Given the description of an element on the screen output the (x, y) to click on. 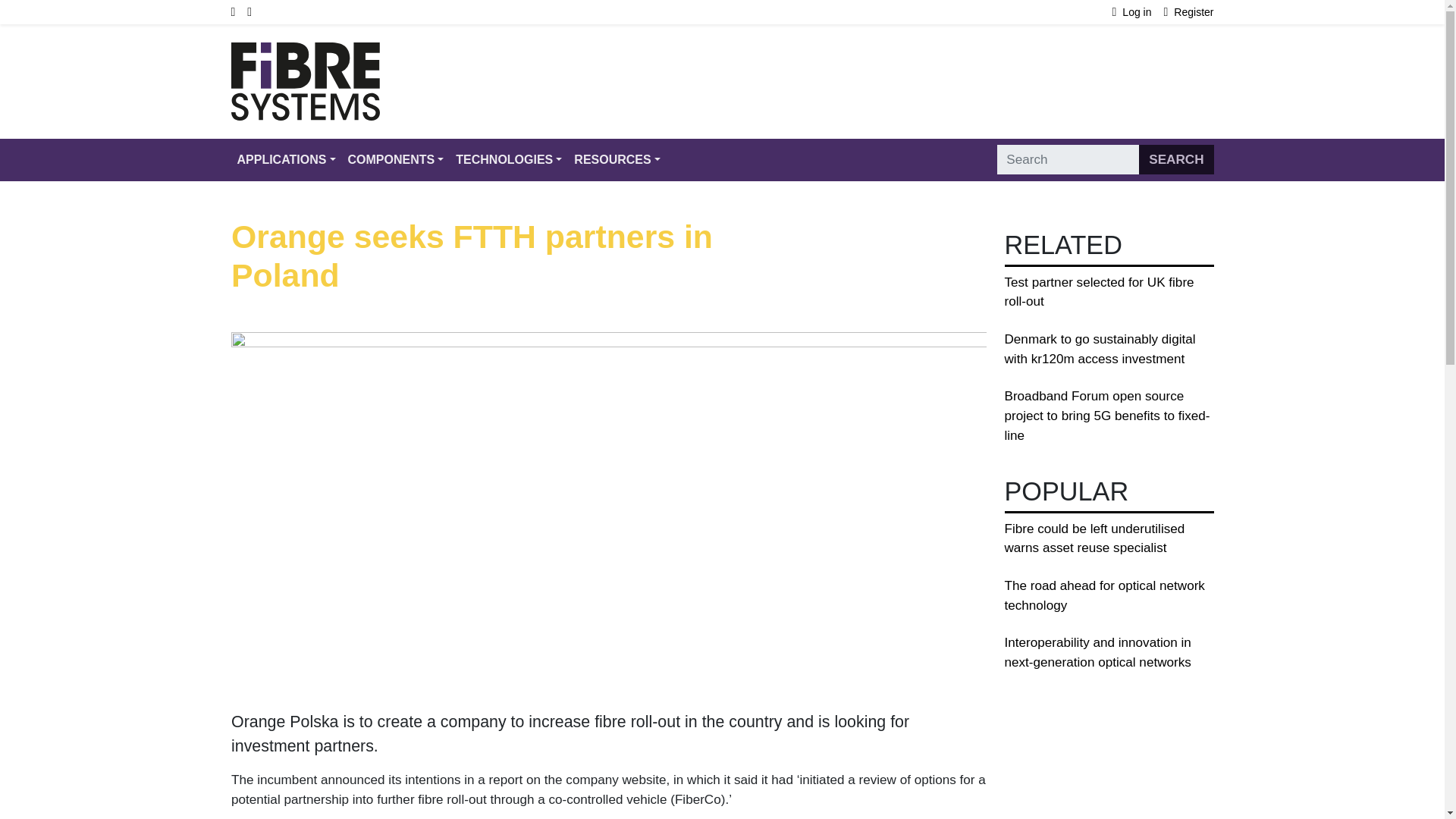
Test partner selected for UK fibre roll-out (1098, 292)
Log in (1137, 12)
Home (304, 51)
Register (1188, 12)
SEARCH (1175, 159)
Enter the terms you wish to search for. (1067, 159)
